Given the description of an element on the screen output the (x, y) to click on. 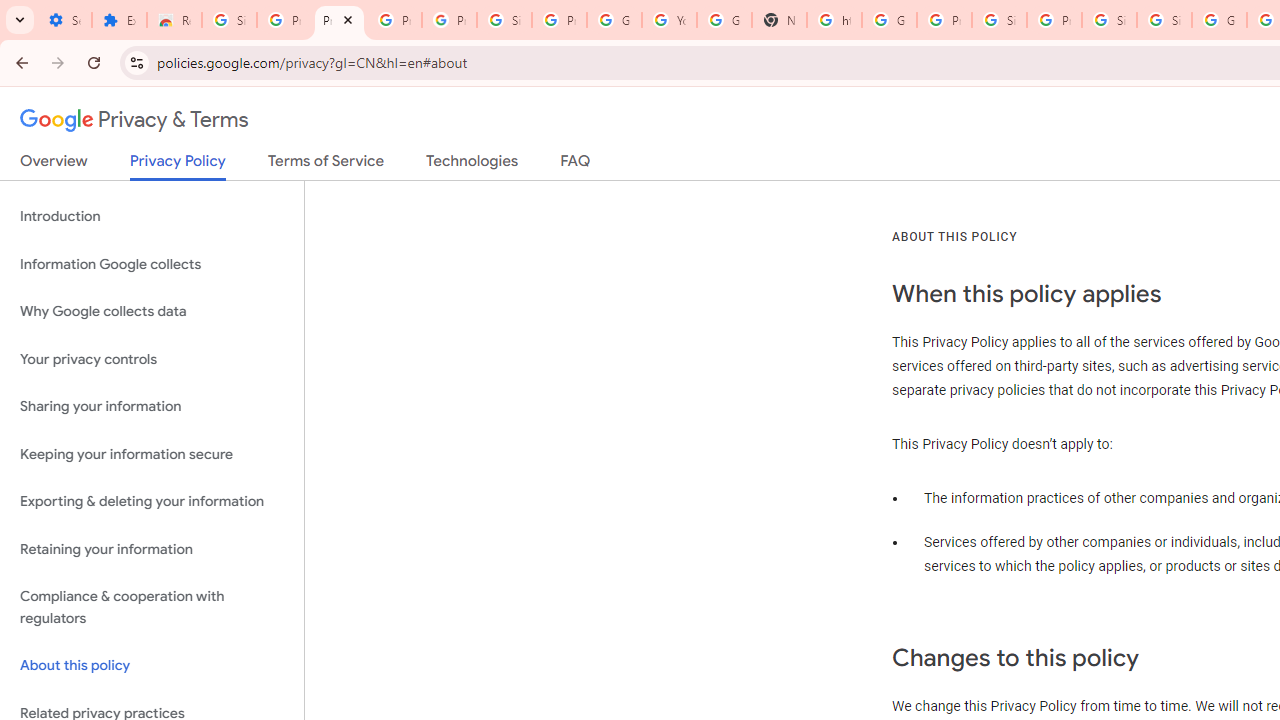
Sign in - Google Accounts (1163, 20)
